Given the description of an element on the screen output the (x, y) to click on. 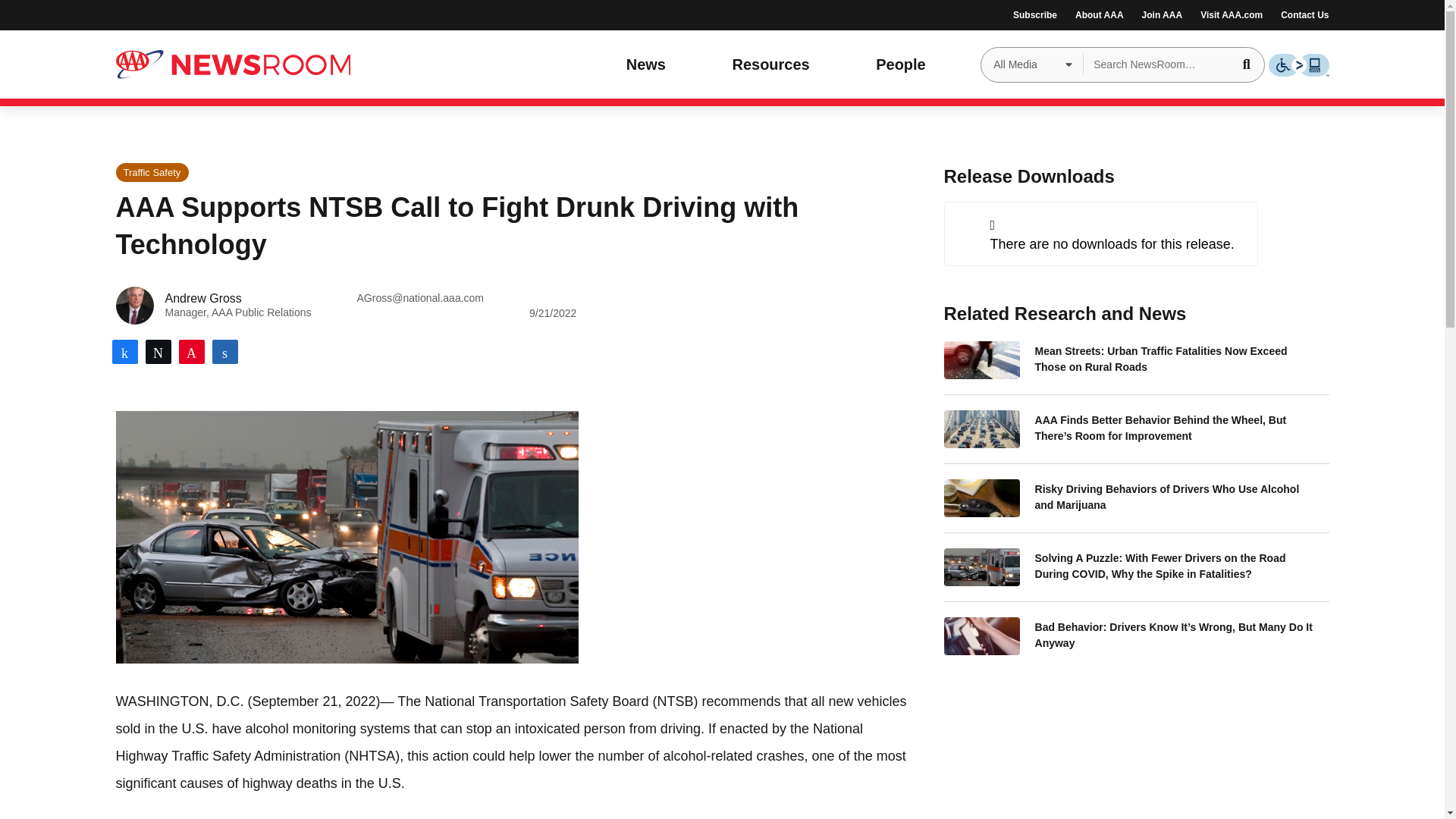
Instagram (184, 11)
Facebook (116, 11)
Twitter (138, 11)
social media icons (149, 15)
YouTube (161, 11)
Traffic Safety (152, 171)
People (905, 64)
Resources (775, 64)
Visit AAA.com (1231, 15)
About AAA (1098, 15)
